Given the description of an element on the screen output the (x, y) to click on. 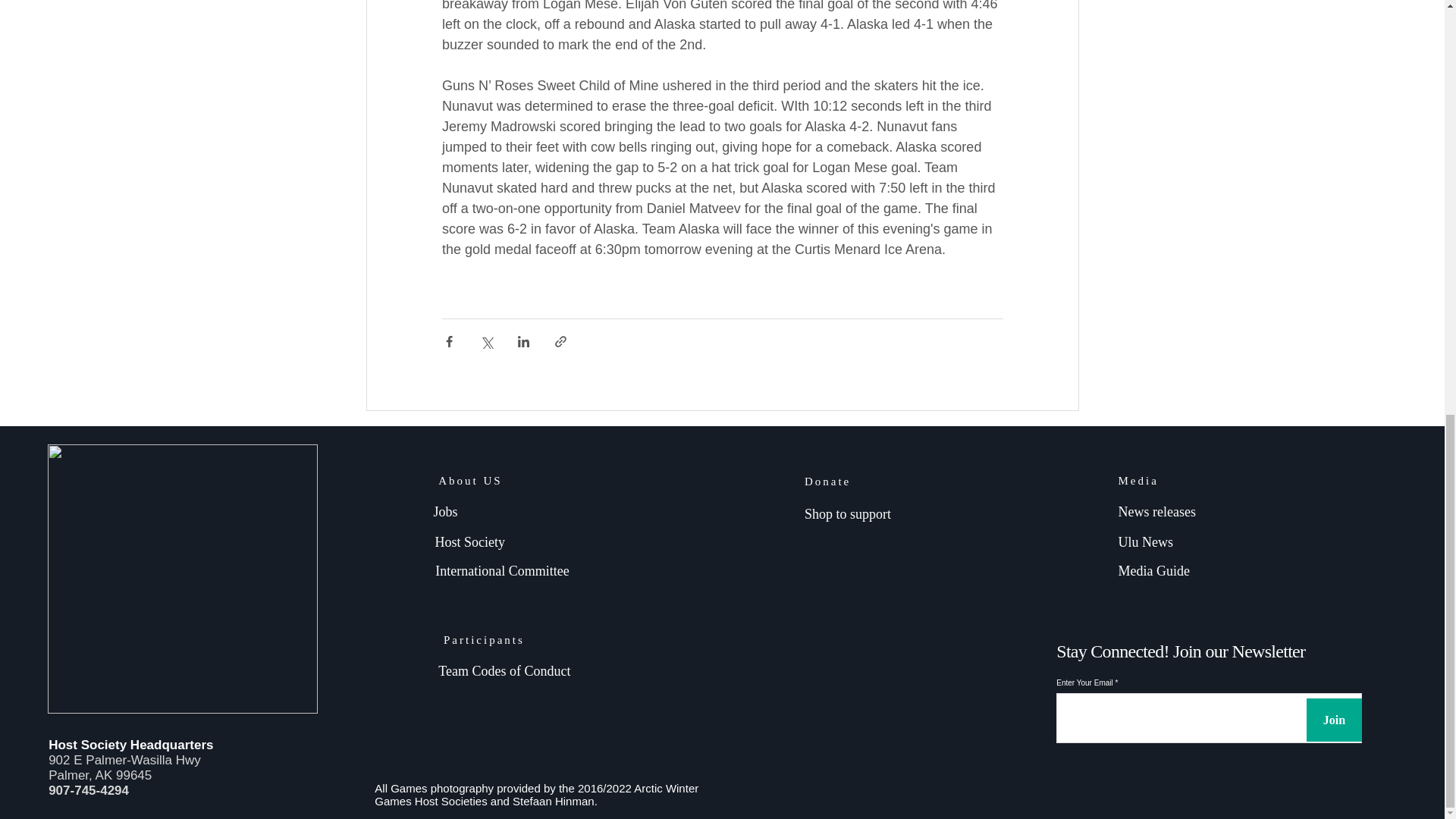
Team Codes of Conduct (504, 670)
Join (1333, 720)
Shop to support (848, 513)
International Committee  (503, 570)
Jobs (444, 511)
Host Society (470, 541)
Donate (827, 481)
